Given the description of an element on the screen output the (x, y) to click on. 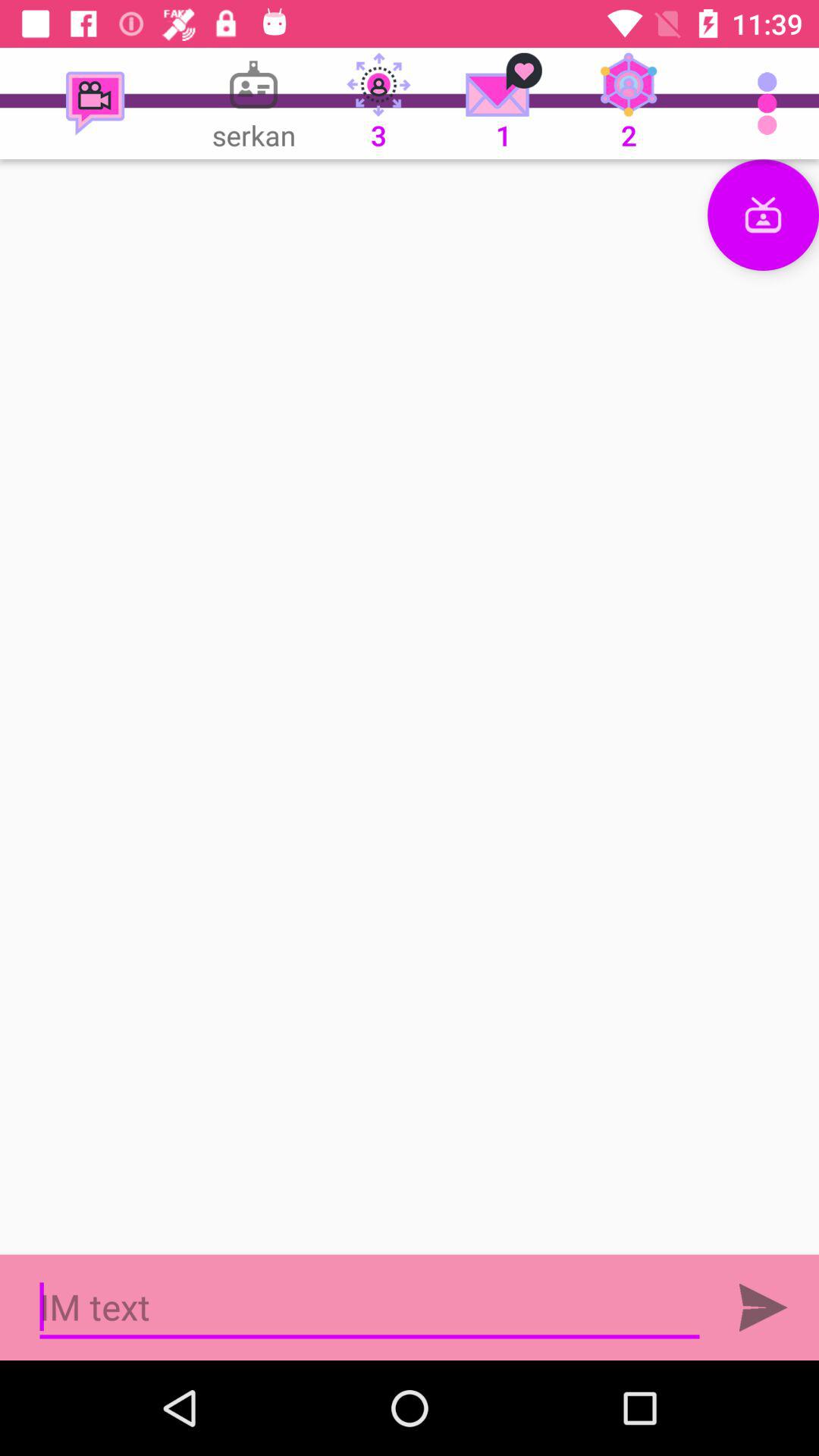
go to play (763, 1307)
